Given the description of an element on the screen output the (x, y) to click on. 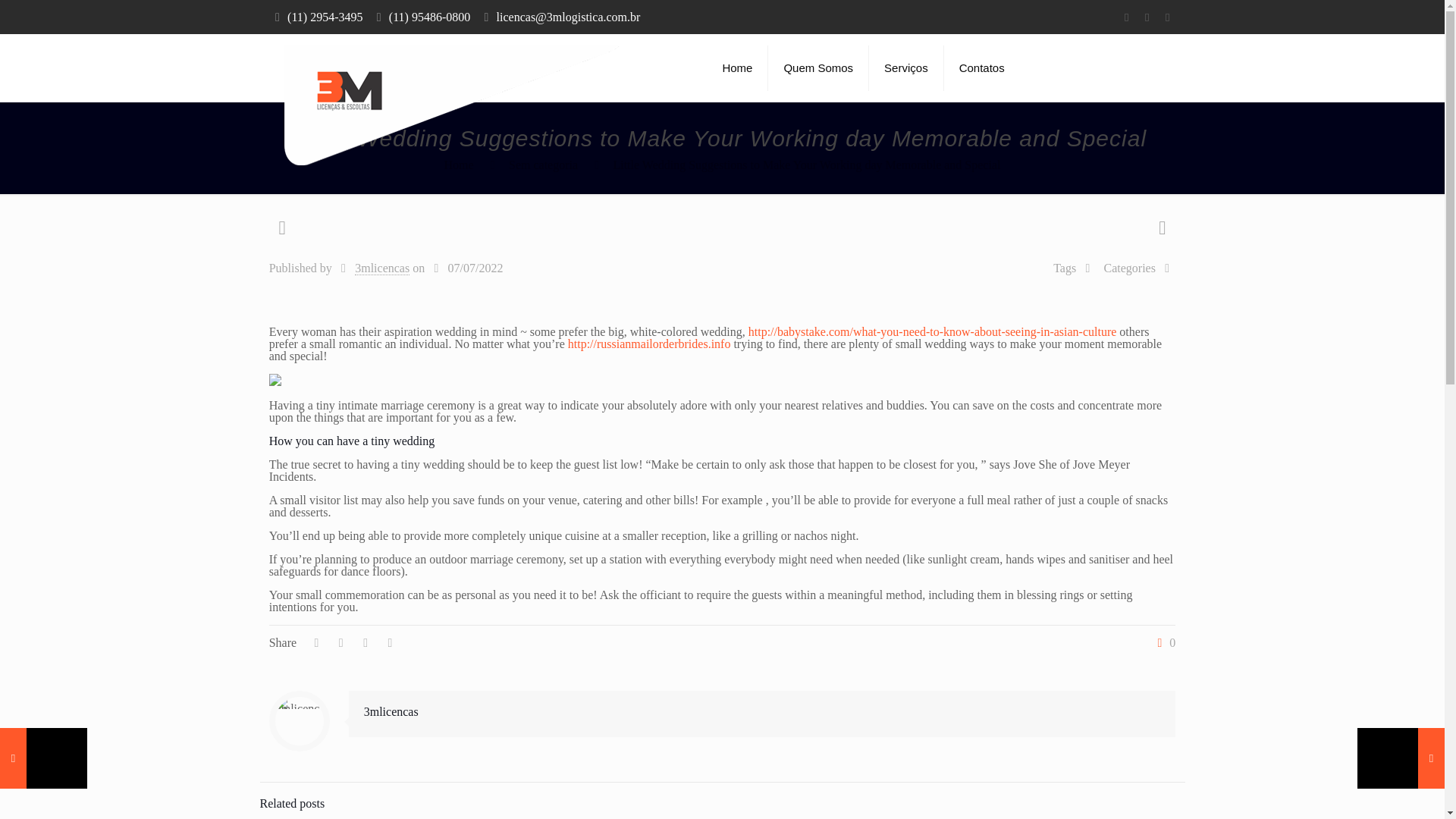
Facebook (1146, 17)
3mlicencas (391, 711)
3mlicencas (382, 268)
Instagram (1166, 17)
Home (459, 164)
Contatos (981, 68)
Home (737, 68)
3Maet (451, 106)
Quem Somos (818, 68)
Sem categoria (543, 164)
WhatsApp (1126, 17)
0 (1162, 643)
